Given the description of an element on the screen output the (x, y) to click on. 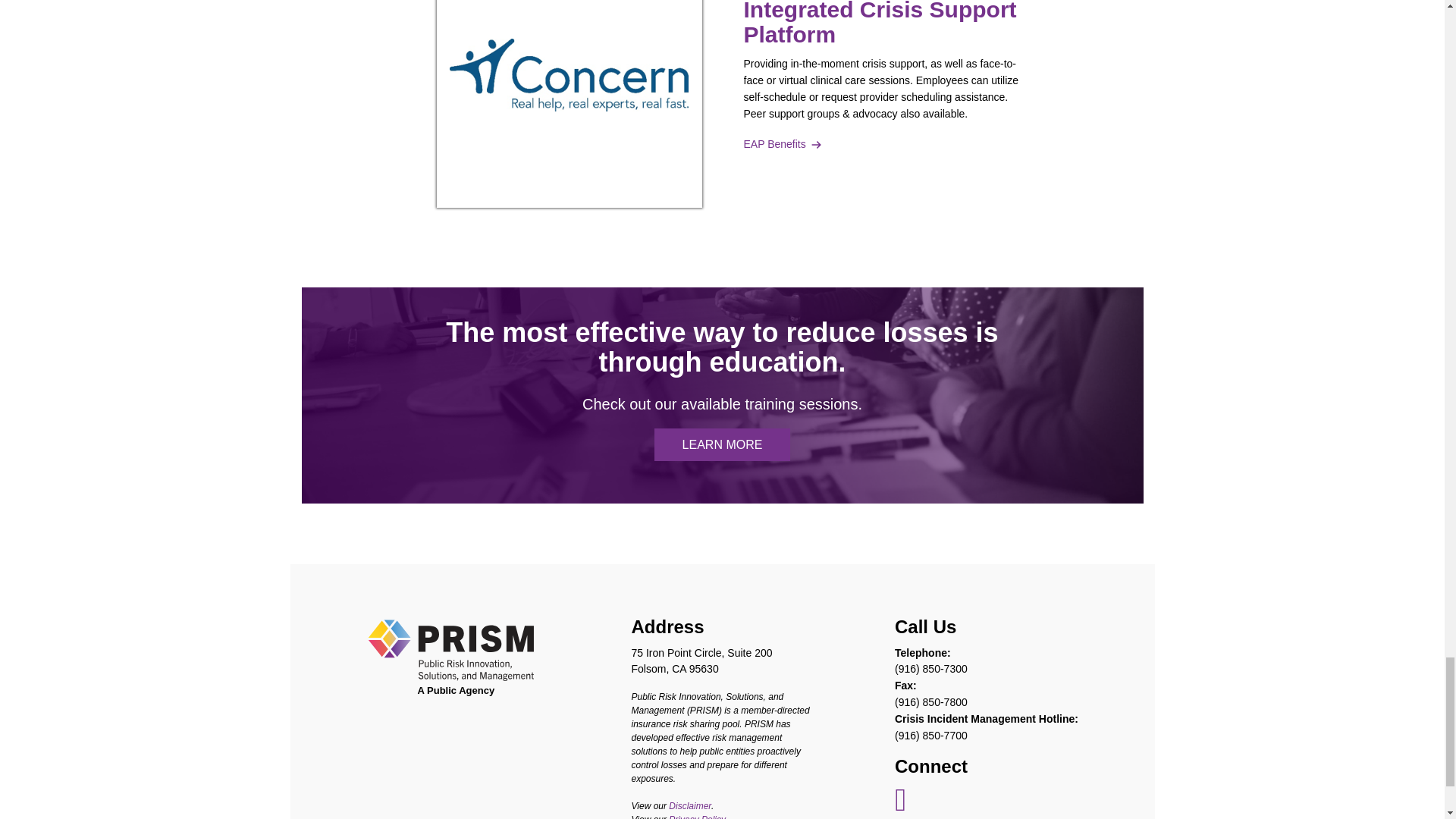
Follow us on LinkedIn! (900, 806)
